Given the description of an element on the screen output the (x, y) to click on. 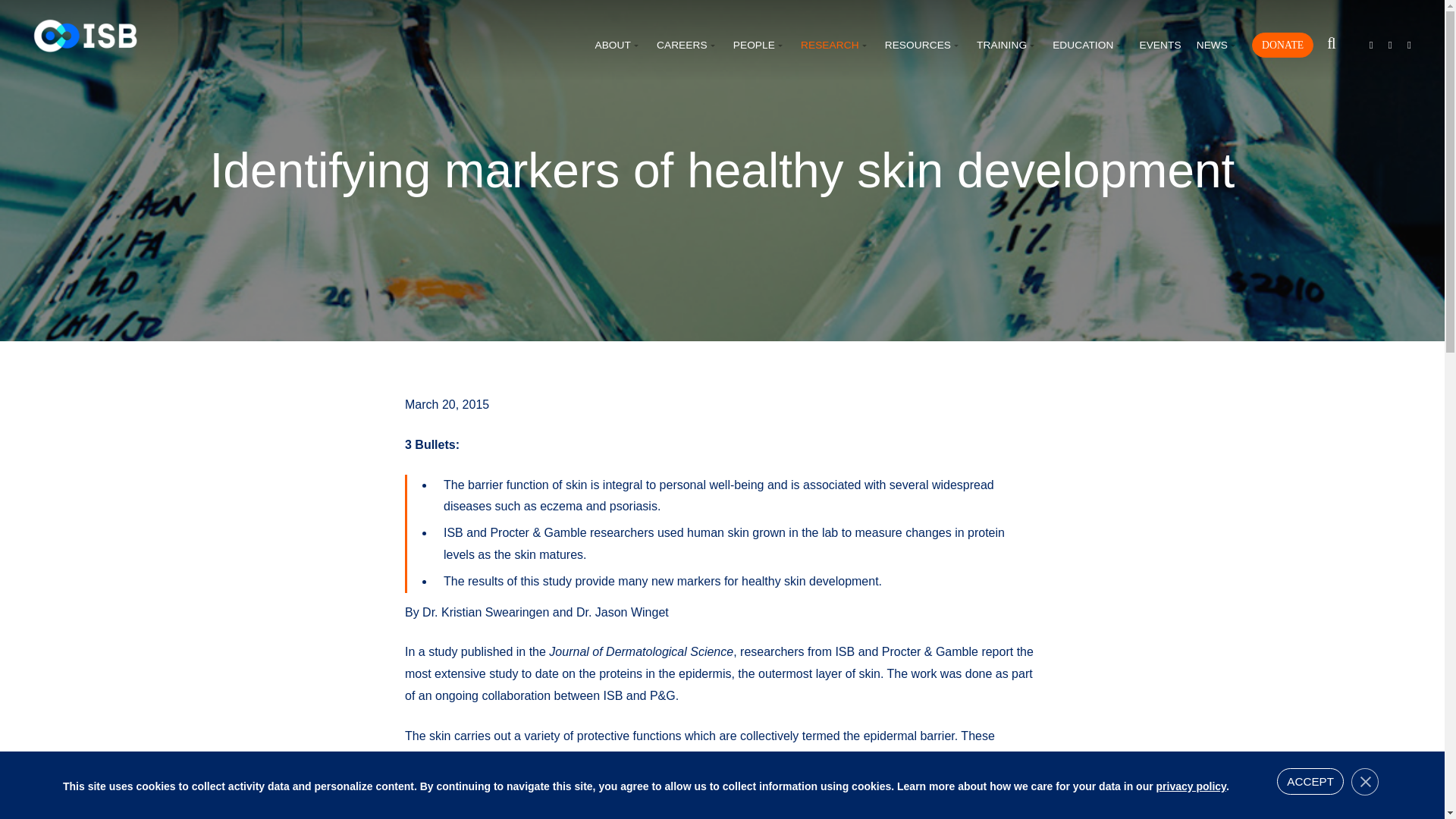
Click to search site (1331, 43)
PEOPLE (759, 45)
RESEARCH (834, 45)
CAREERS (686, 45)
ABOUT (618, 45)
